Given the description of an element on the screen output the (x, y) to click on. 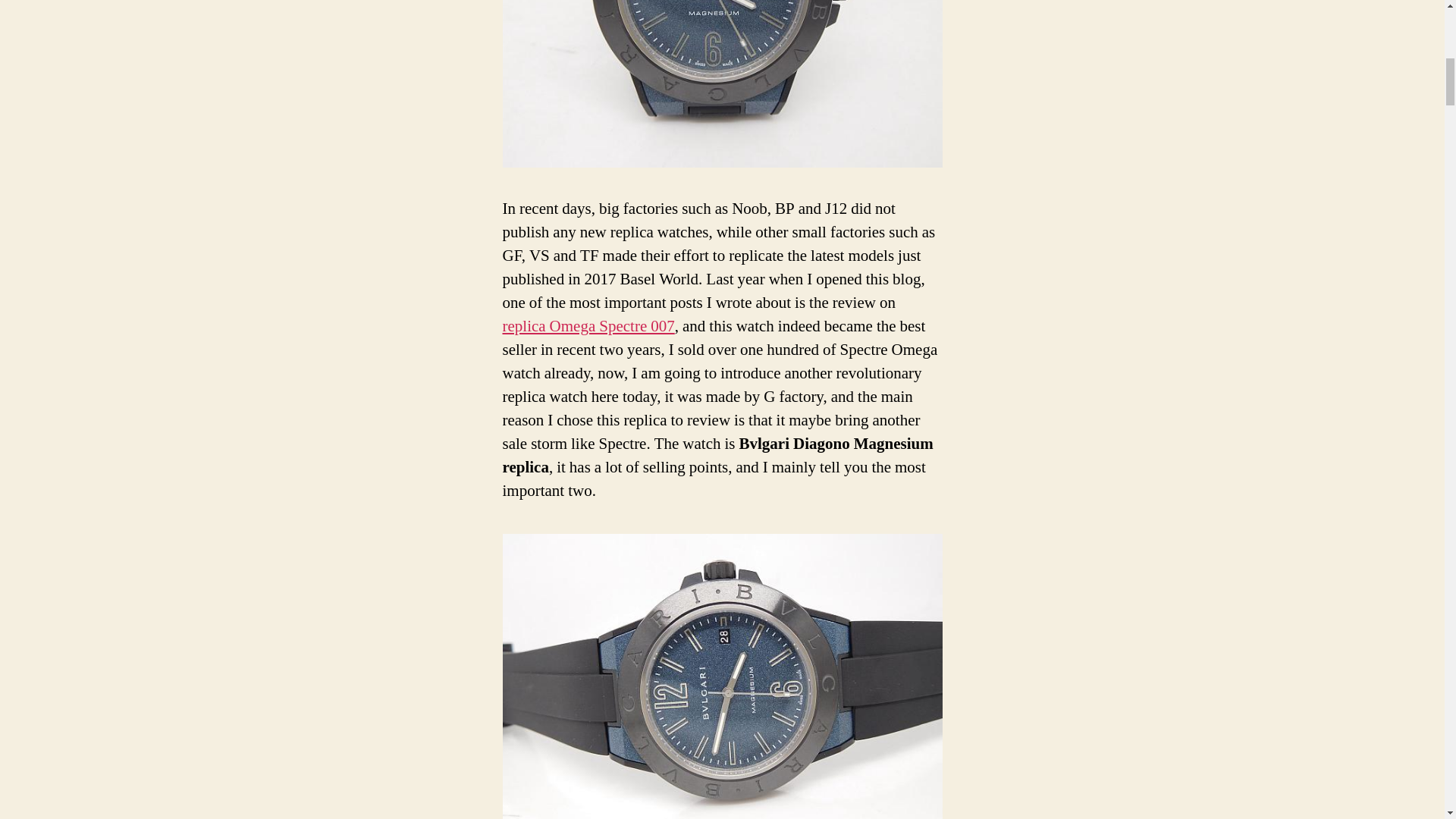
replica Omega Spectre 007 (588, 326)
